Given the description of an element on the screen output the (x, y) to click on. 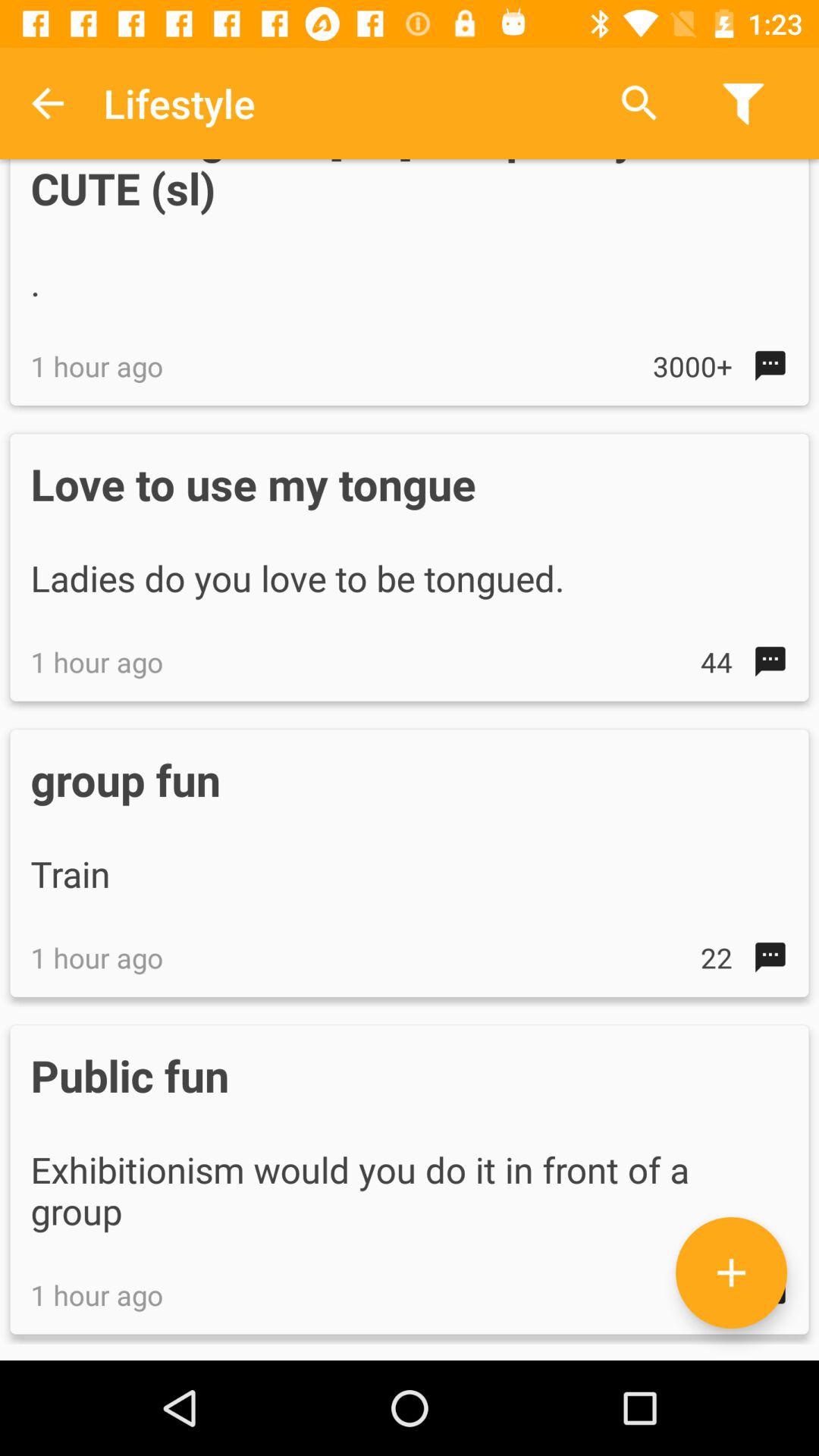
open icon next to lifestyle icon (47, 103)
